Given the description of an element on the screen output the (x, y) to click on. 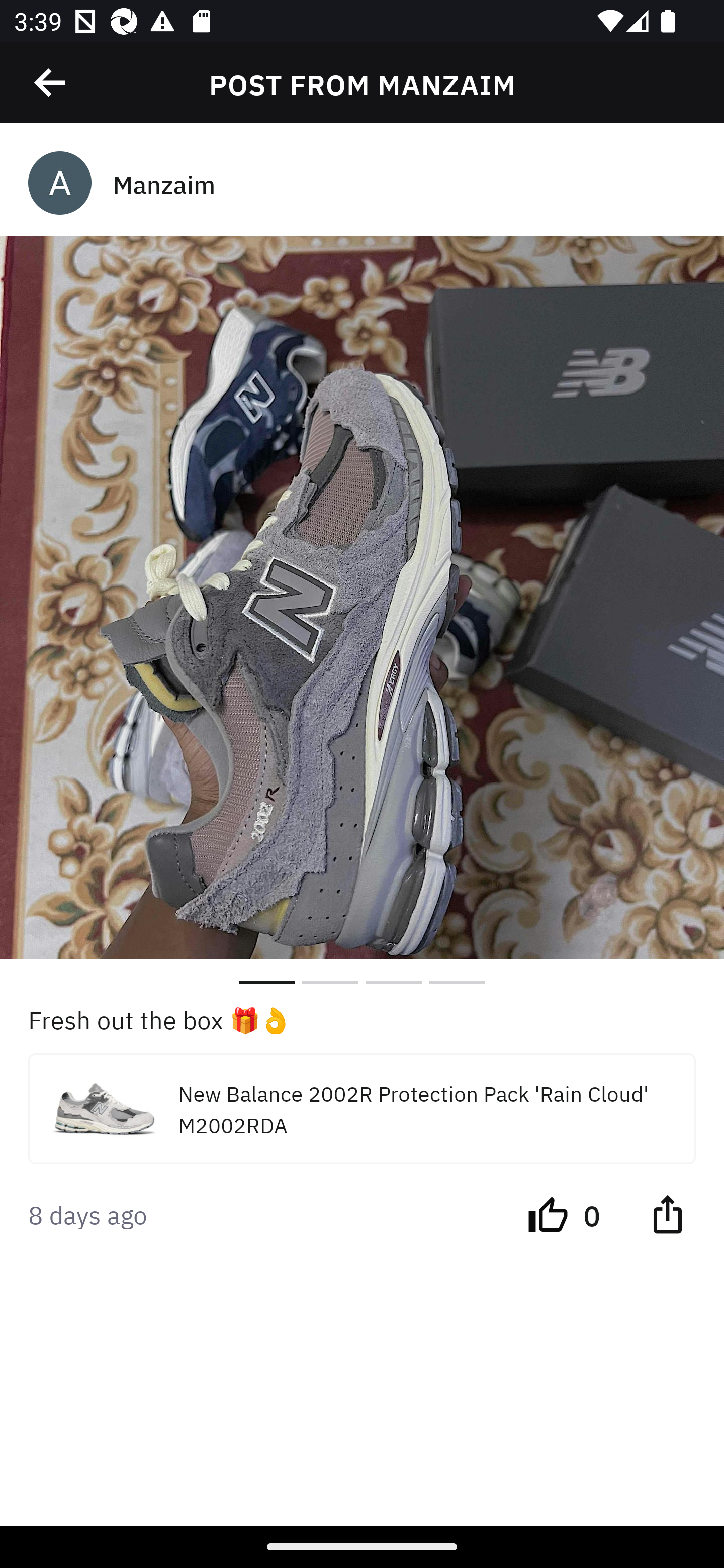
 (50, 83)
Fresh out the box 🎁👌 (362, 1018)
󰔔 (547, 1213)
 (667, 1213)
